Given the description of an element on the screen output the (x, y) to click on. 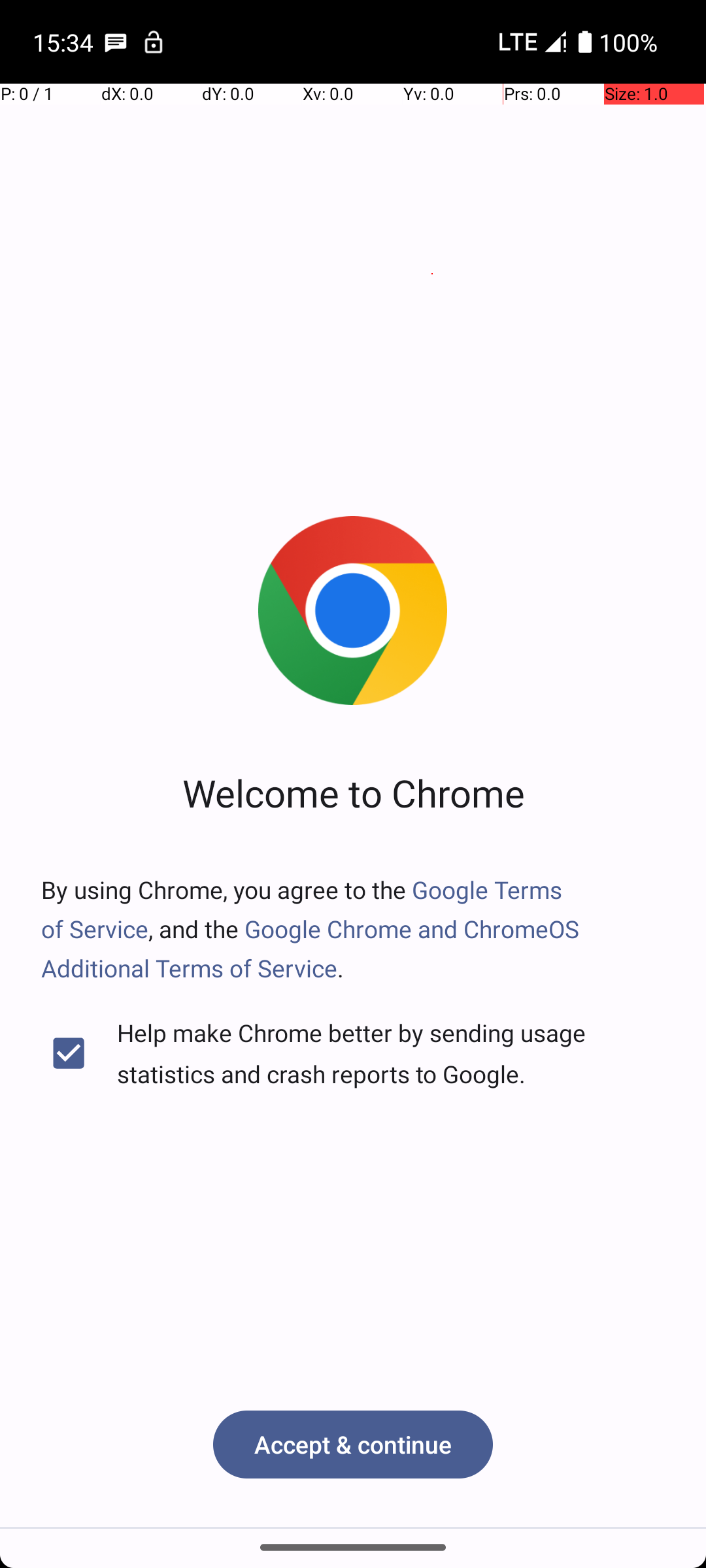
Tasks notification: Connection security Element type: android.widget.ImageView (153, 41)
